Given the description of an element on the screen output the (x, y) to click on. 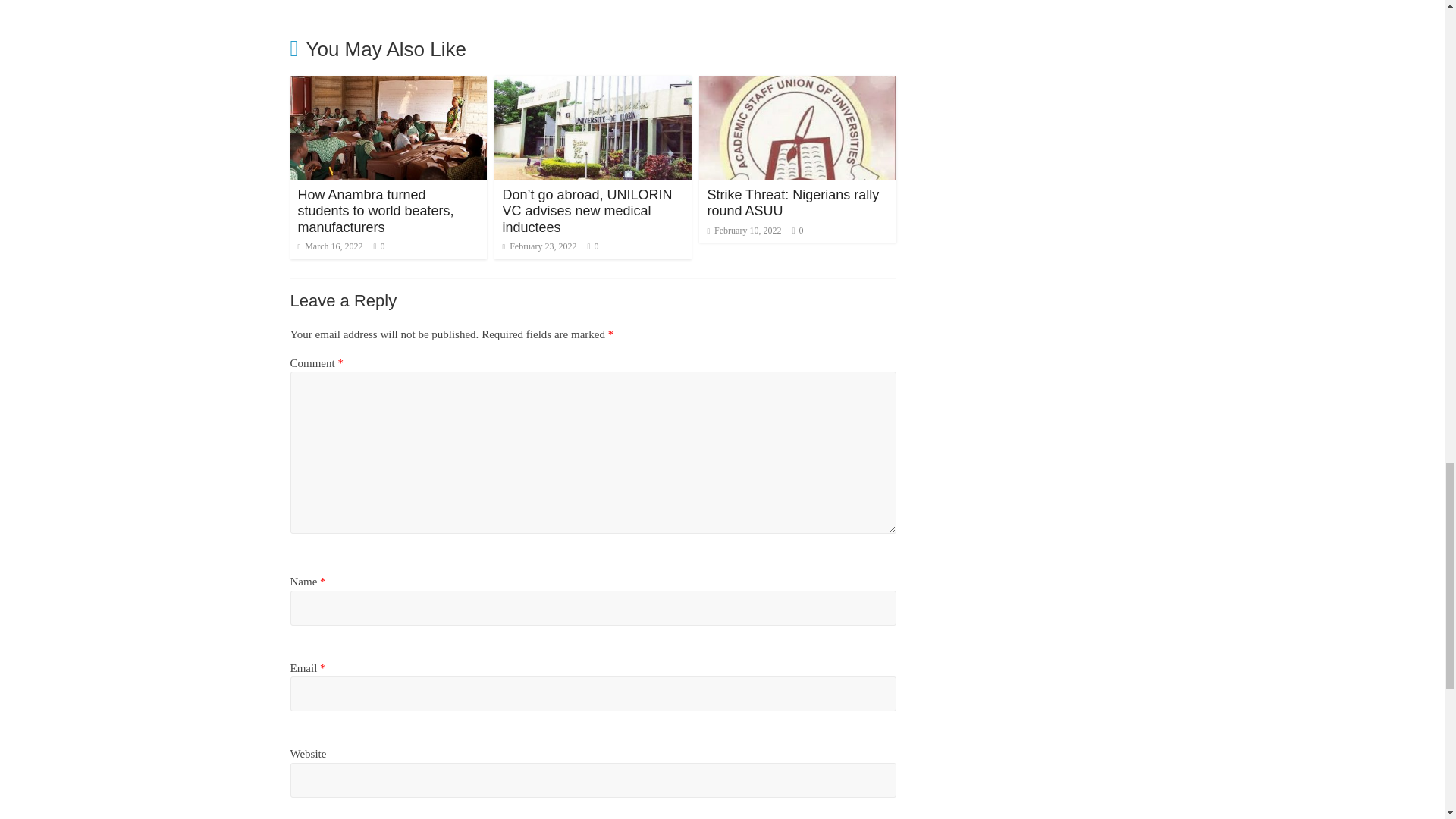
February 23, 2022 (539, 245)
How Anambra turned students to world beaters, manufacturers (374, 211)
How Anambra turned students to world beaters, manufacturers (387, 84)
March 16, 2022 (329, 245)
How Anambra turned students to world beaters, manufacturers (374, 211)
8:56 am (329, 245)
